Given the description of an element on the screen output the (x, y) to click on. 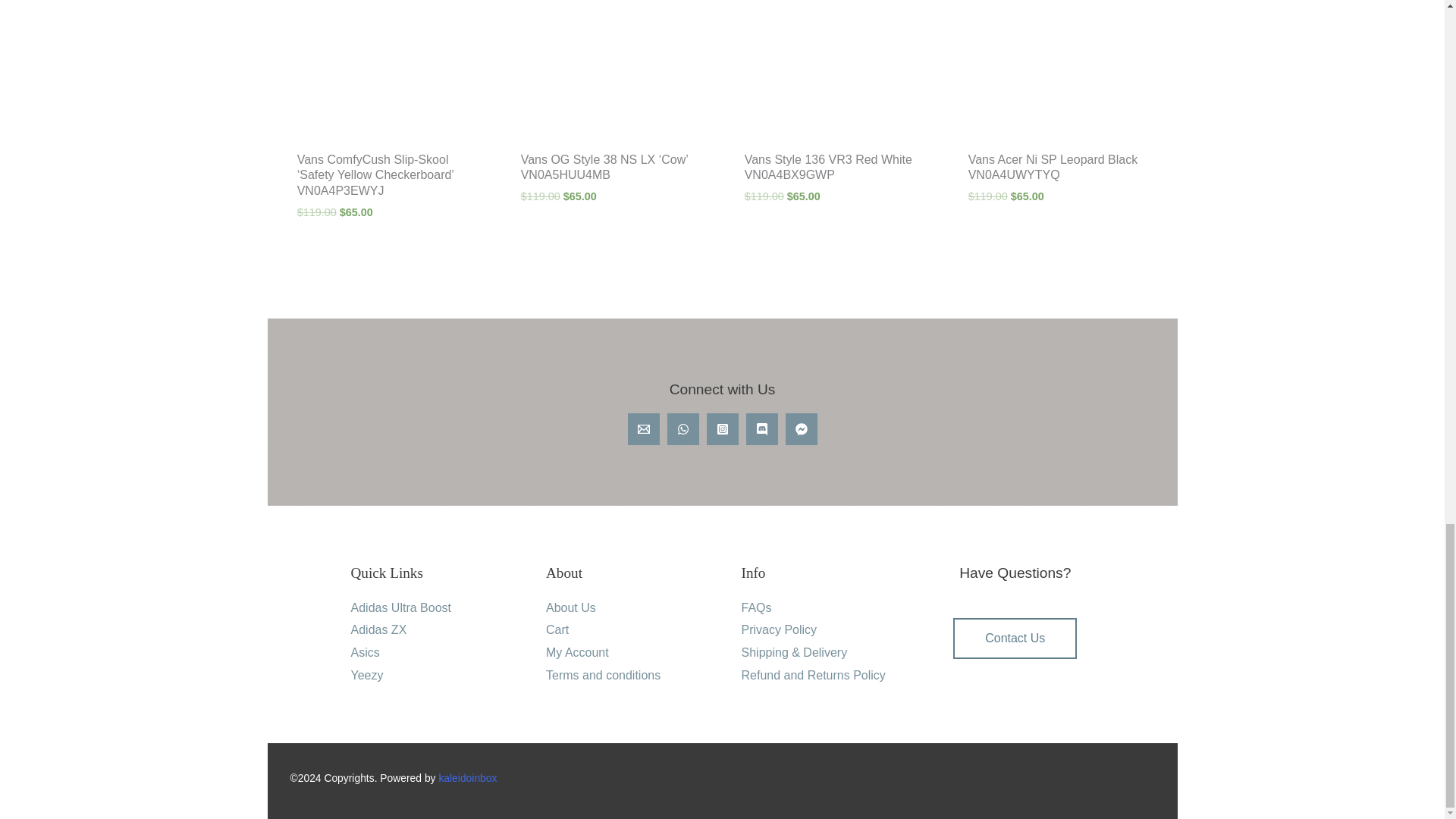
Vans OG Style 38 NS LX 'Cow' - Unique Animal Print Sneakers (610, 71)
Vans ComfyCush Slip-Skool Safety Yellow Checkerboard Shoes (386, 71)
